Given the description of an element on the screen output the (x, y) to click on. 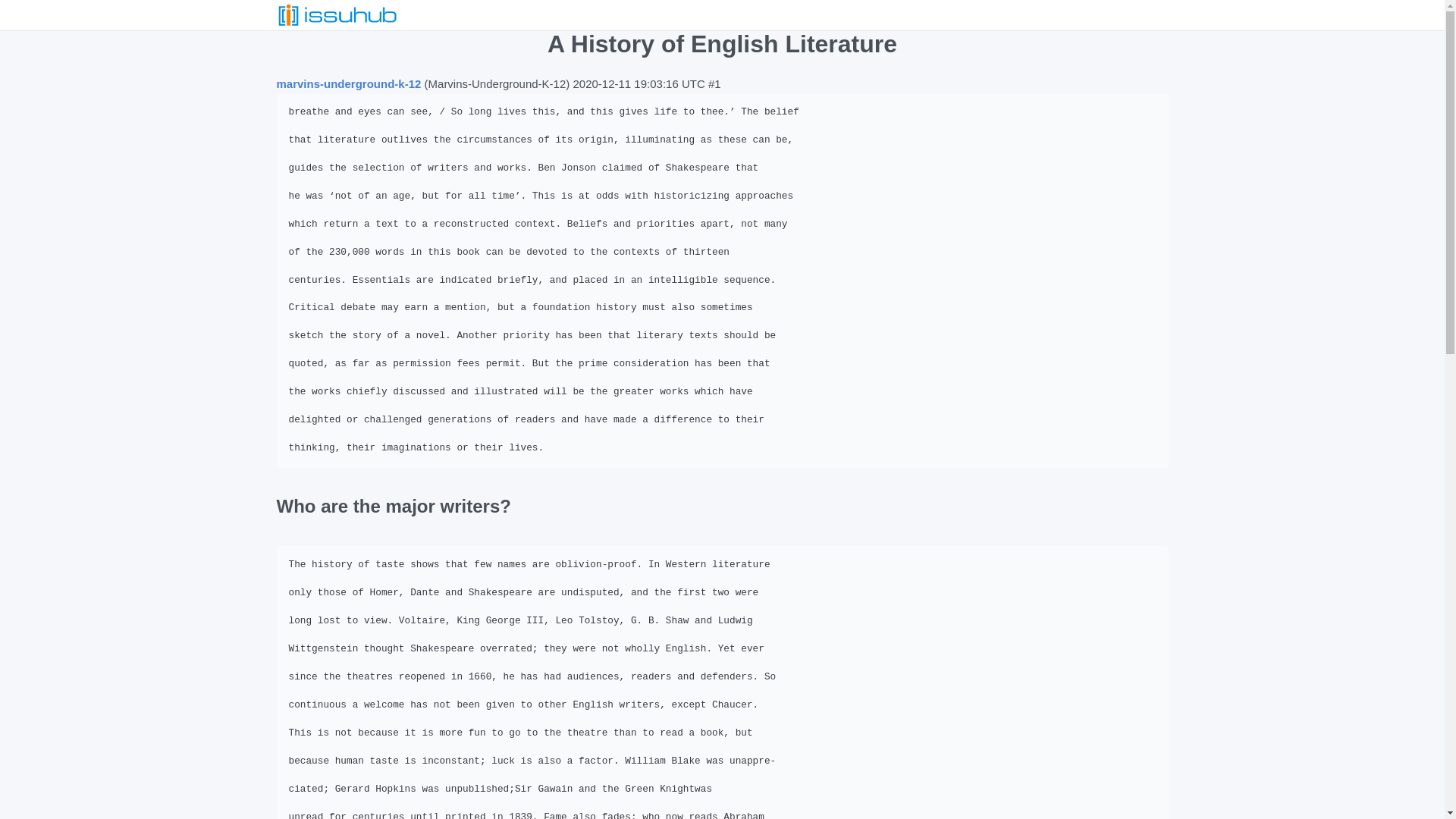
marvins-underground-k-12 (348, 83)
